Given the description of an element on the screen output the (x, y) to click on. 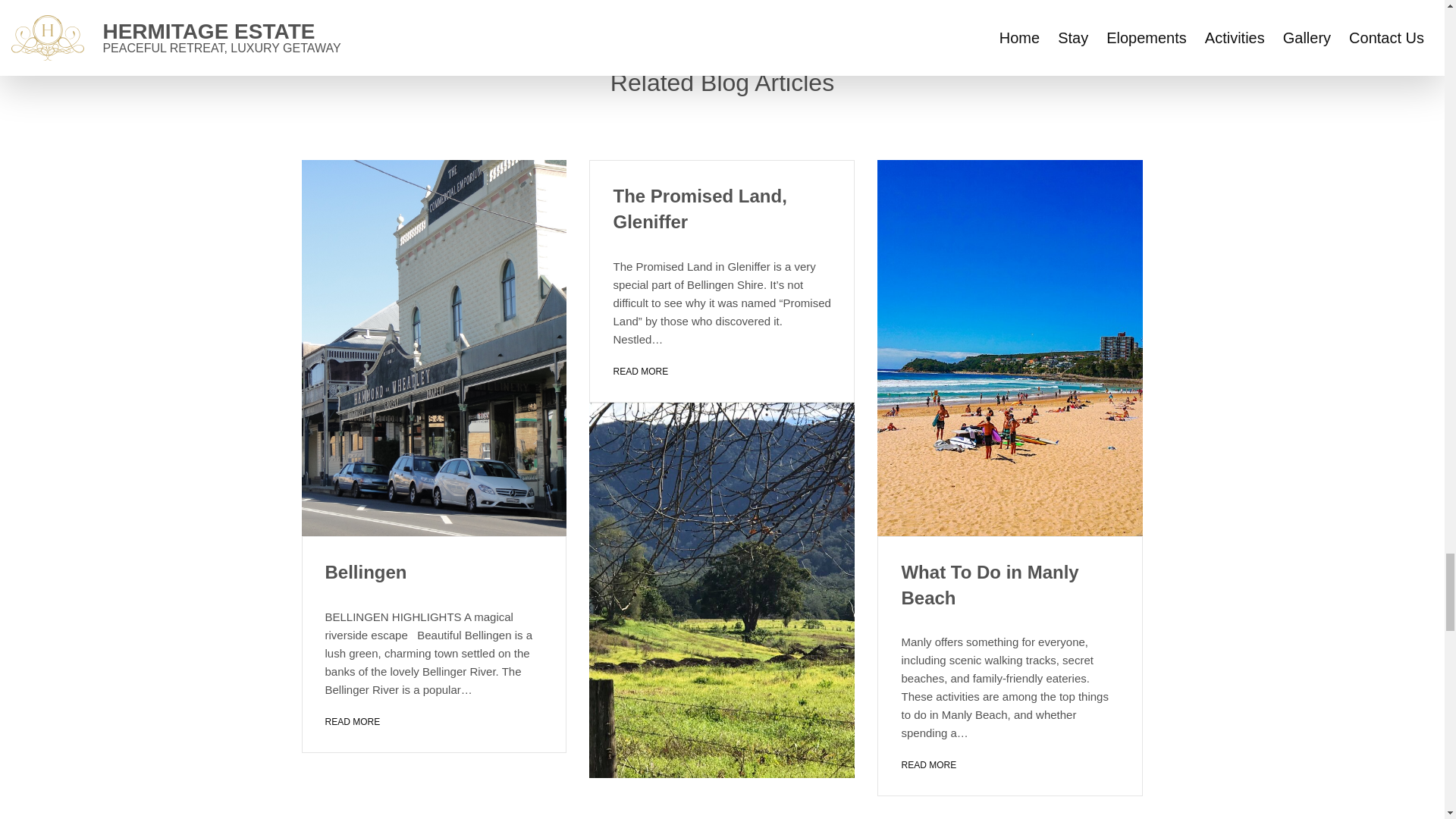
The Promised Land, Gleniffer (699, 208)
What To Do in Manly Beach (989, 584)
Bellingen (365, 571)
